Given the description of an element on the screen output the (x, y) to click on. 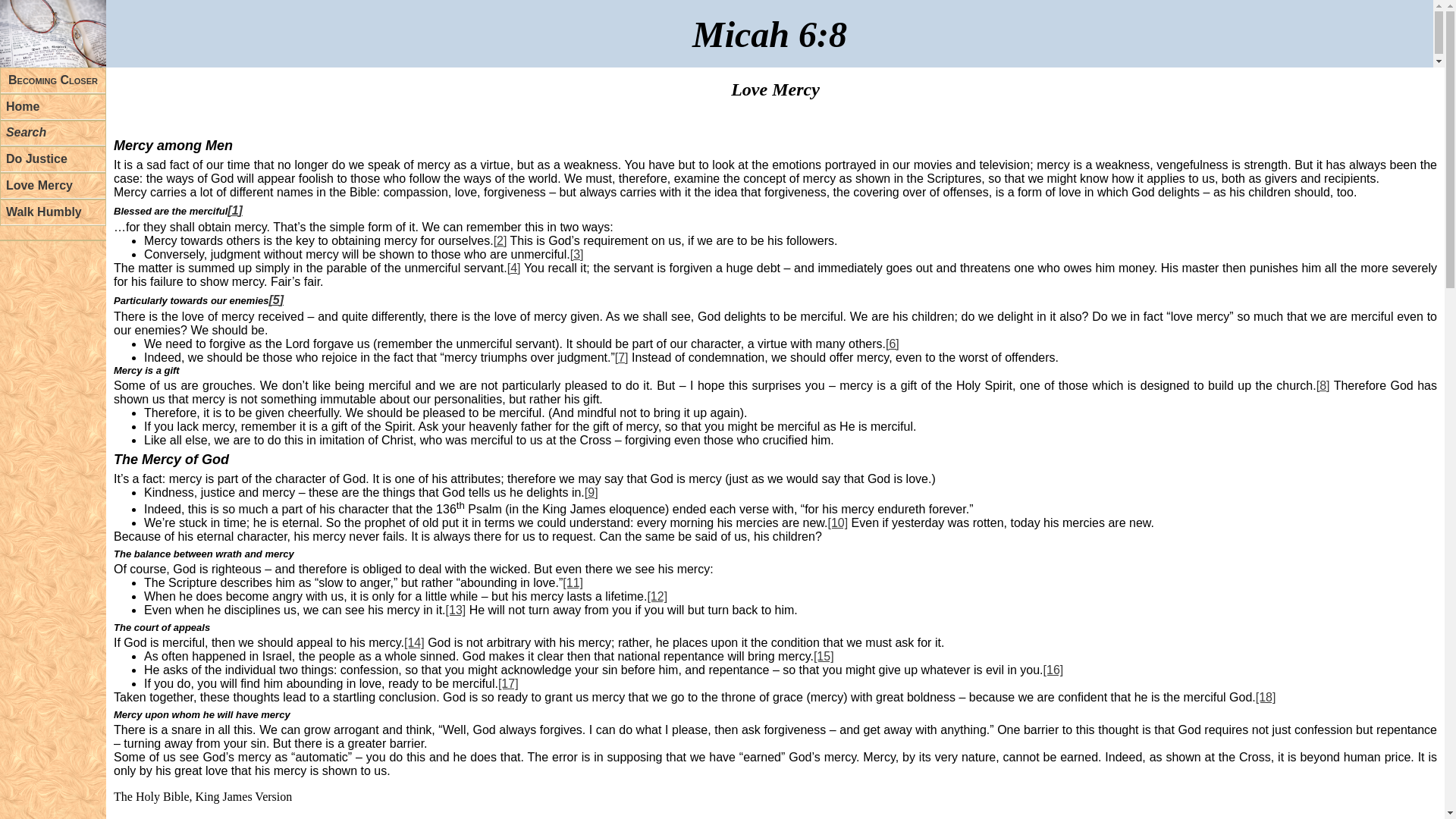
Home (52, 107)
Walk Humbly (52, 212)
Takes you to Google Advanced Search for this site. (52, 133)
Love Mercy (52, 186)
Do Justice (52, 159)
Search (52, 133)
Becoming Closer (52, 80)
